Given the description of an element on the screen output the (x, y) to click on. 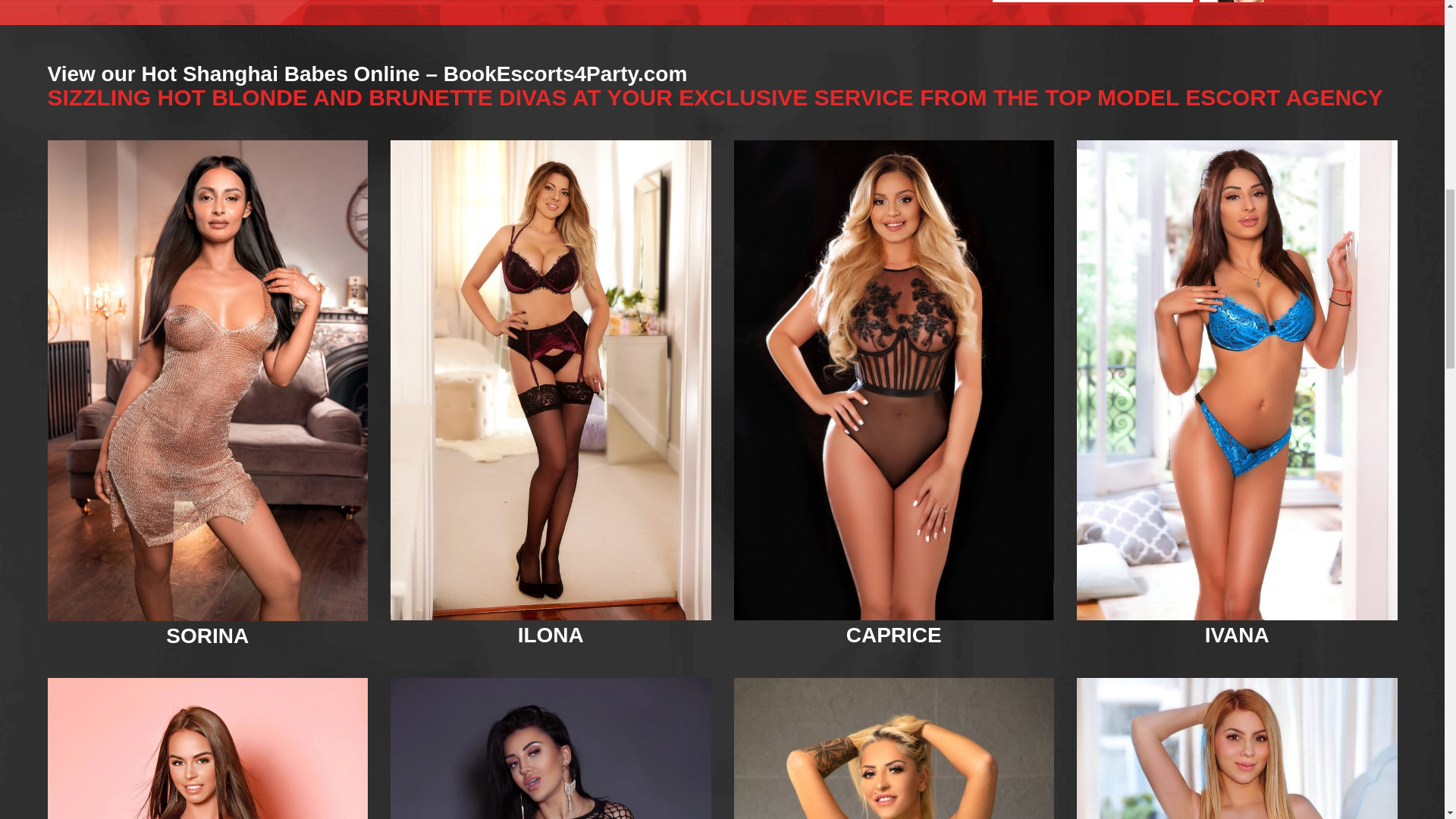
SORINA (206, 635)
CAPRICE (893, 635)
ILONA (550, 635)
IVANA (1237, 635)
